Given the description of an element on the screen output the (x, y) to click on. 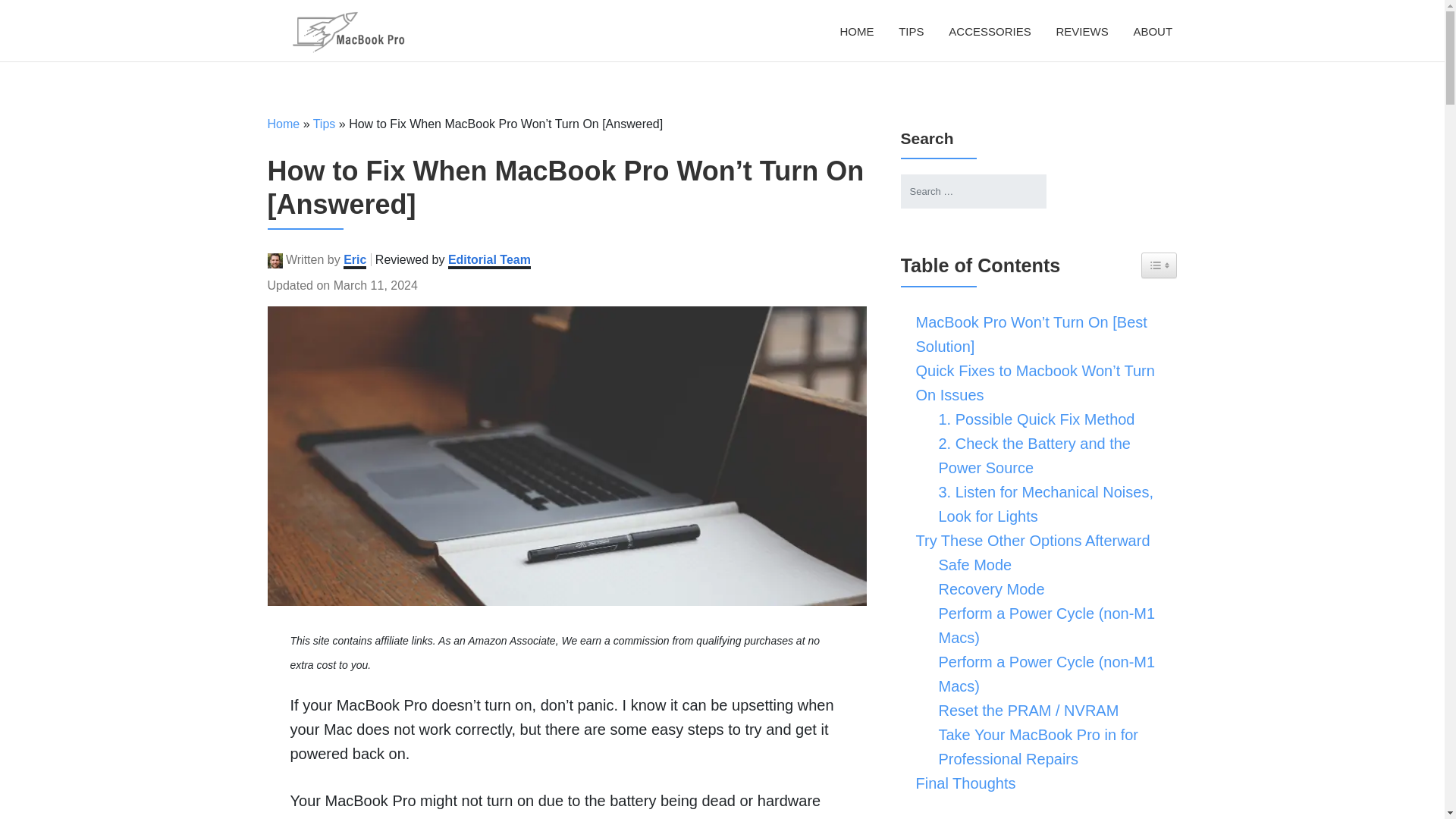
1. Possible Quick Fix Method (1033, 419)
Editorial Team (489, 261)
ACCESSORIES (989, 30)
Final Thoughts (962, 783)
Safe Mode (971, 564)
Home (856, 30)
3. Listen for Mechanical Noises, Look for Lights (1050, 503)
Tips (324, 123)
Safe Mode (971, 564)
